Given the description of an element on the screen output the (x, y) to click on. 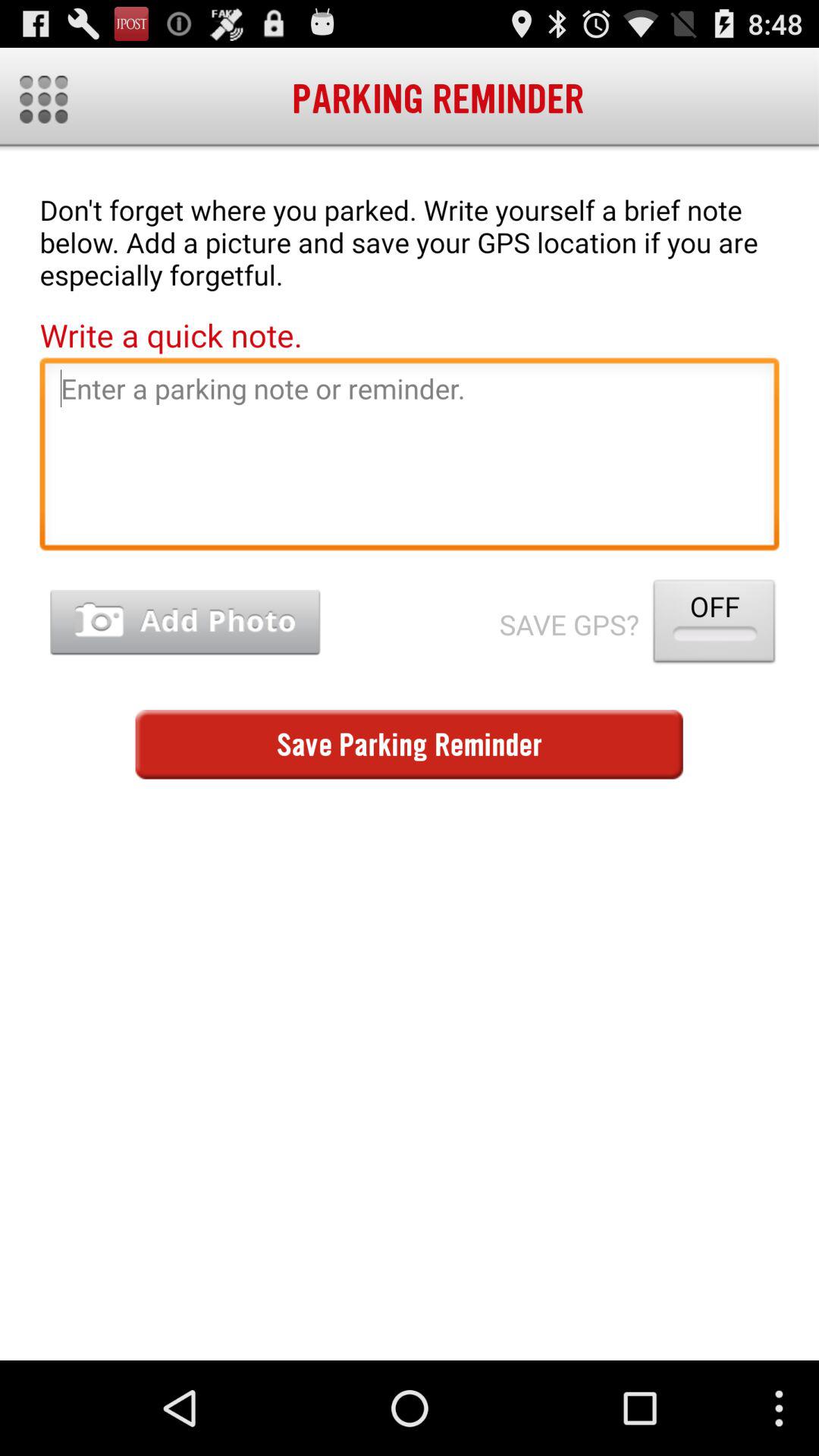
tap item next to save gps? (714, 624)
